Given the description of an element on the screen output the (x, y) to click on. 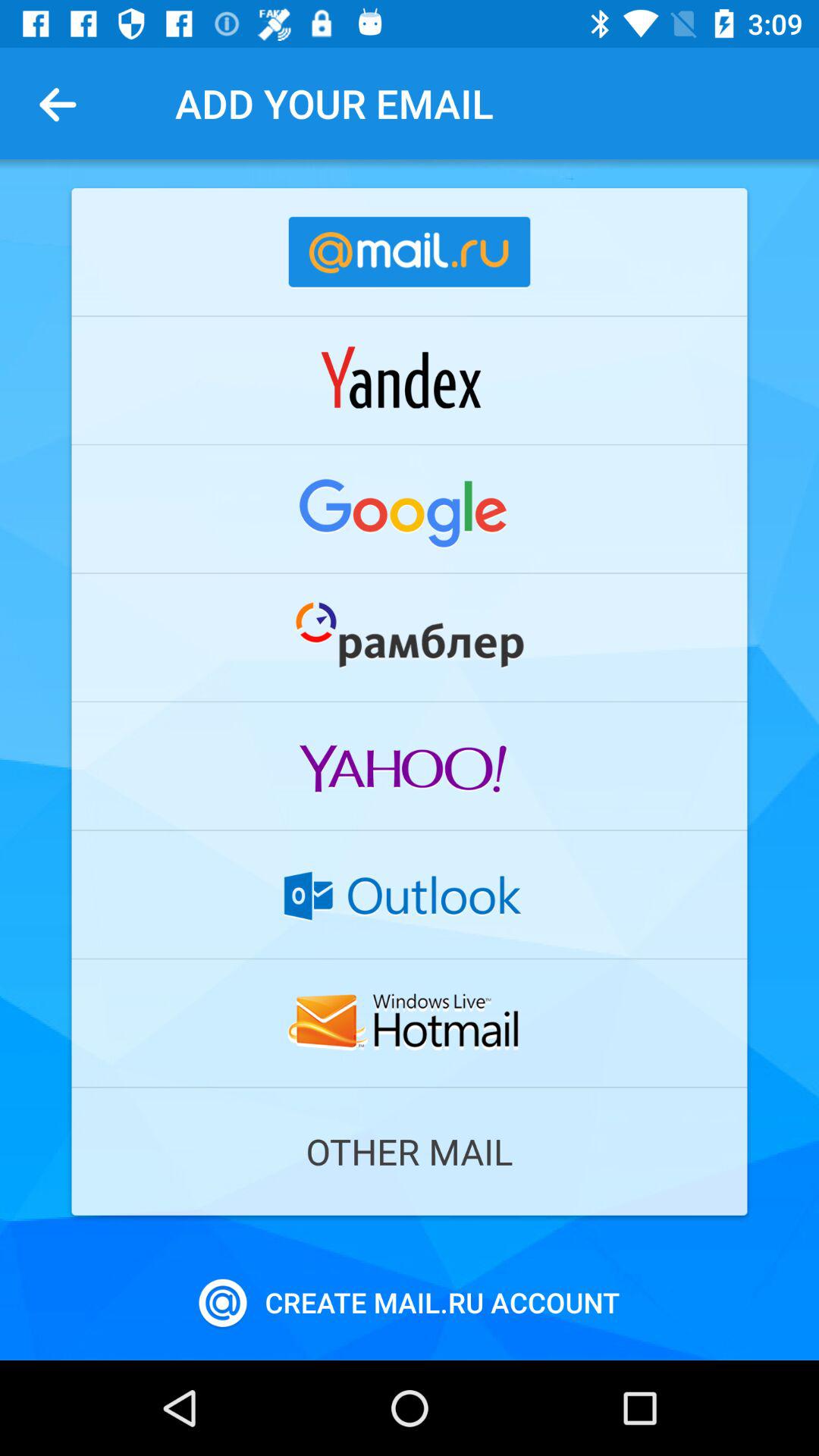
select pam6nep email account (409, 637)
